Given the description of an element on the screen output the (x, y) to click on. 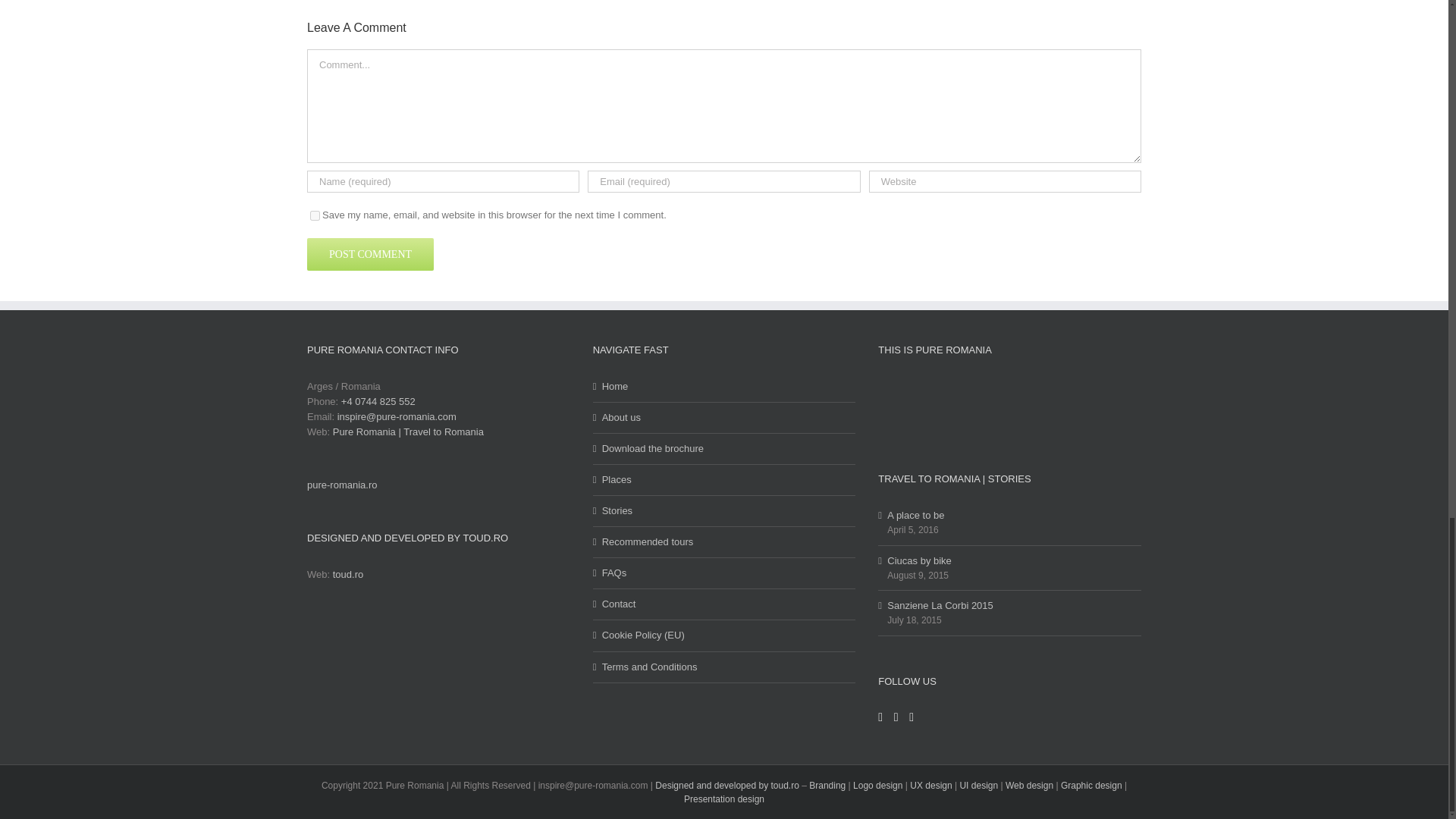
Logo (863, 785)
Dimitrie Gusti National Village Museum (1069, 406)
Sighisoara (1014, 406)
Post Comment (370, 254)
Identitate vizuala (674, 785)
UX Design (931, 785)
UI design (978, 785)
Branding (827, 785)
Danube Delta (959, 406)
Facebook (879, 717)
Pinterest (911, 717)
Presentations Design (724, 798)
Graphic design (1091, 785)
Creare logo (889, 785)
Instagram (895, 717)
